Given the description of an element on the screen output the (x, y) to click on. 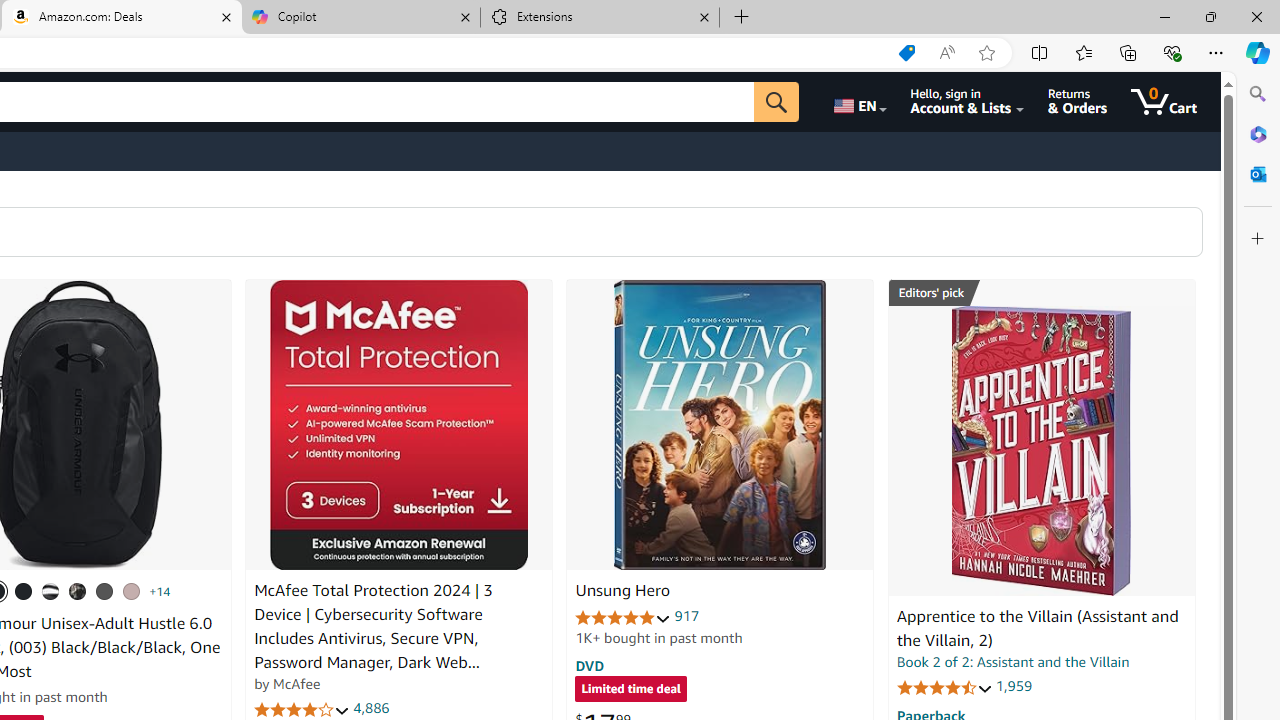
Extensions (600, 17)
Choose a language for shopping. (858, 101)
4,886 (371, 708)
Limited time deal (630, 690)
Shopping in Microsoft Edge (906, 53)
DVD (589, 665)
Returns & Orders (1077, 101)
Read aloud this page (Ctrl+Shift+U) (946, 53)
Hello, sign in Account & Lists (967, 101)
